Given the description of an element on the screen output the (x, y) to click on. 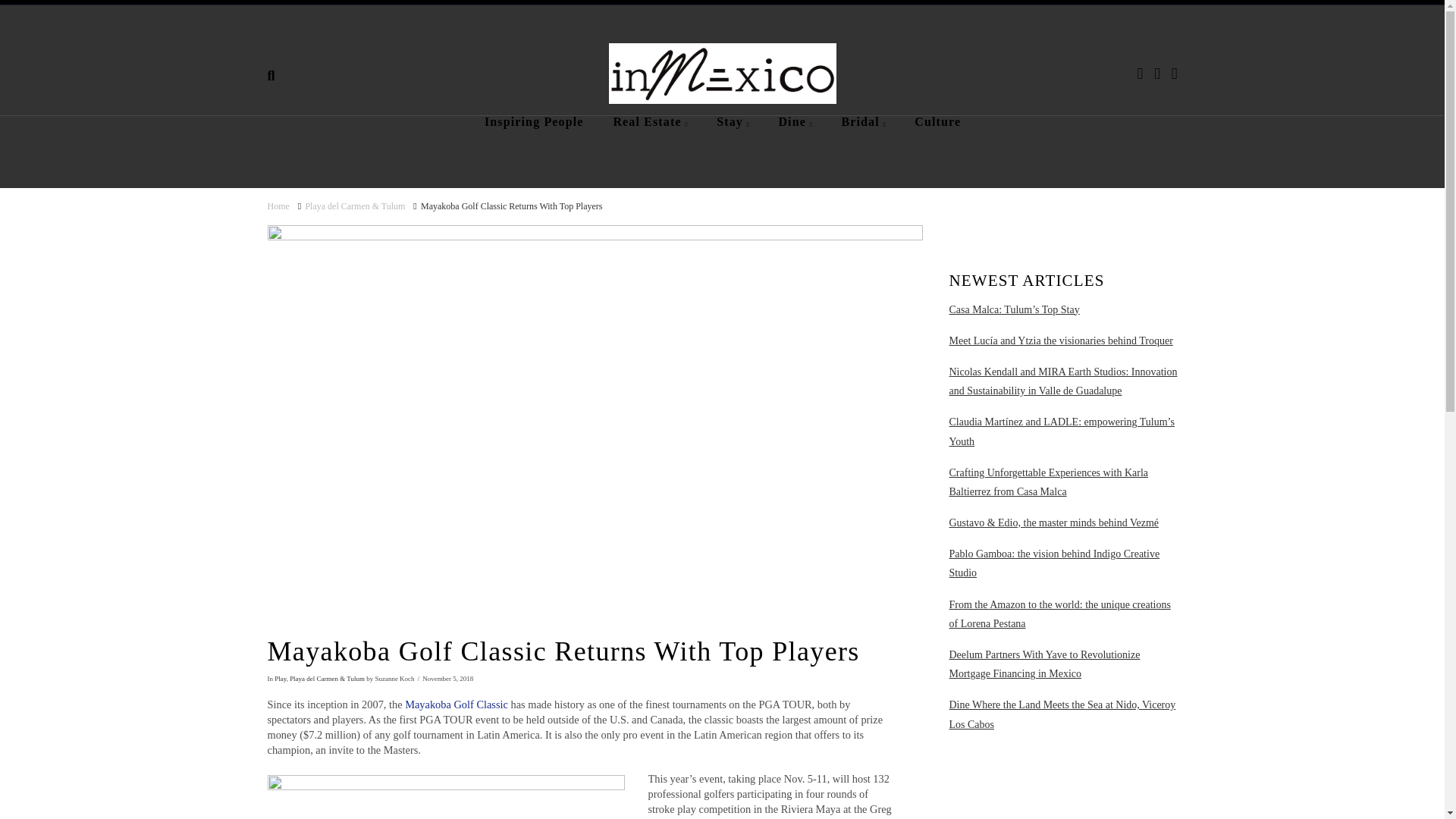
Real Estate (648, 142)
Inspiring People (533, 142)
You Are Here (511, 205)
Stay (731, 142)
